Given the description of an element on the screen output the (x, y) to click on. 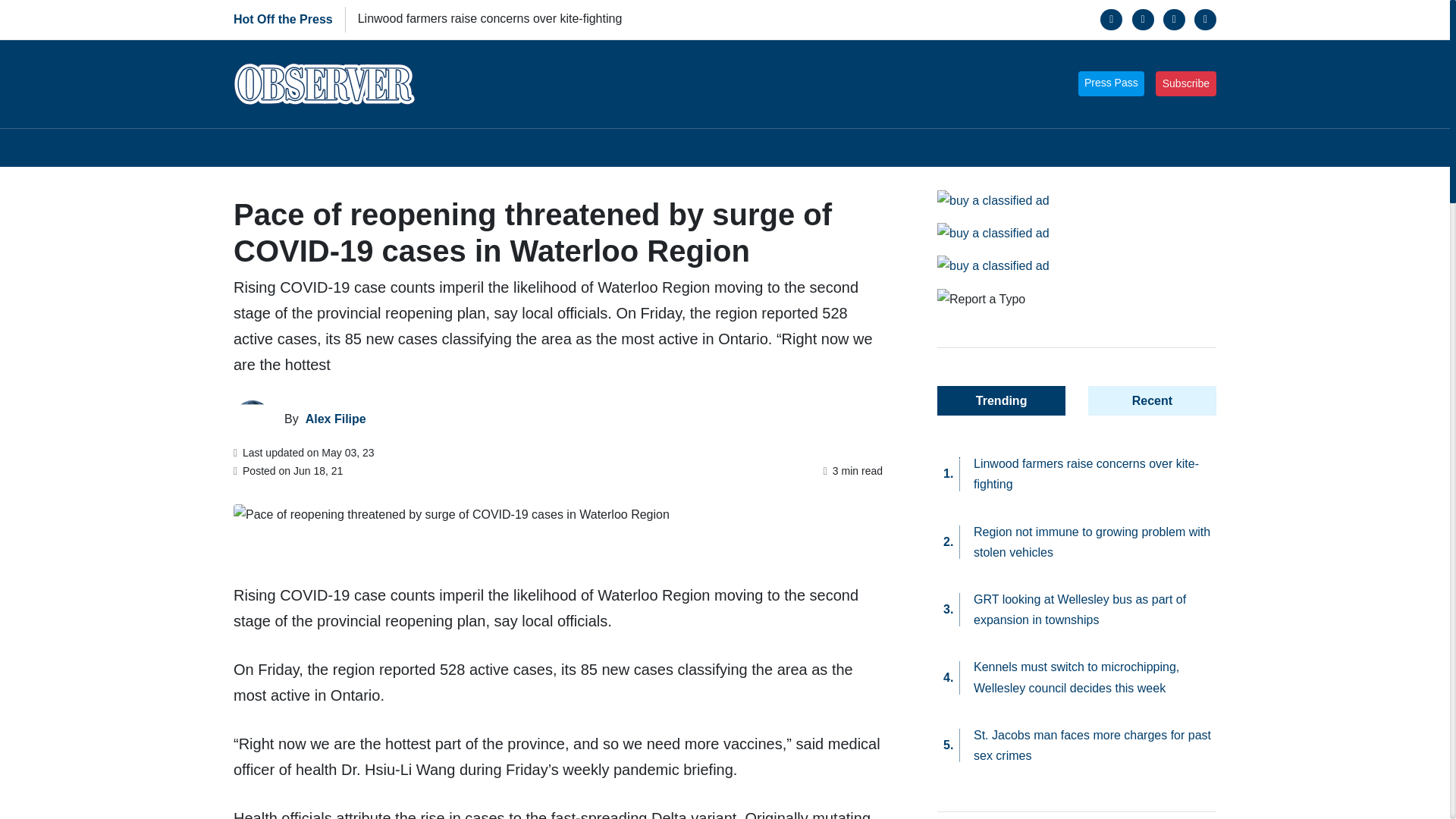
Press Pass (1111, 84)
Subscribe (1185, 84)
Linwood farmers raise concerns over kite-fighting (490, 18)
